Given the description of an element on the screen output the (x, y) to click on. 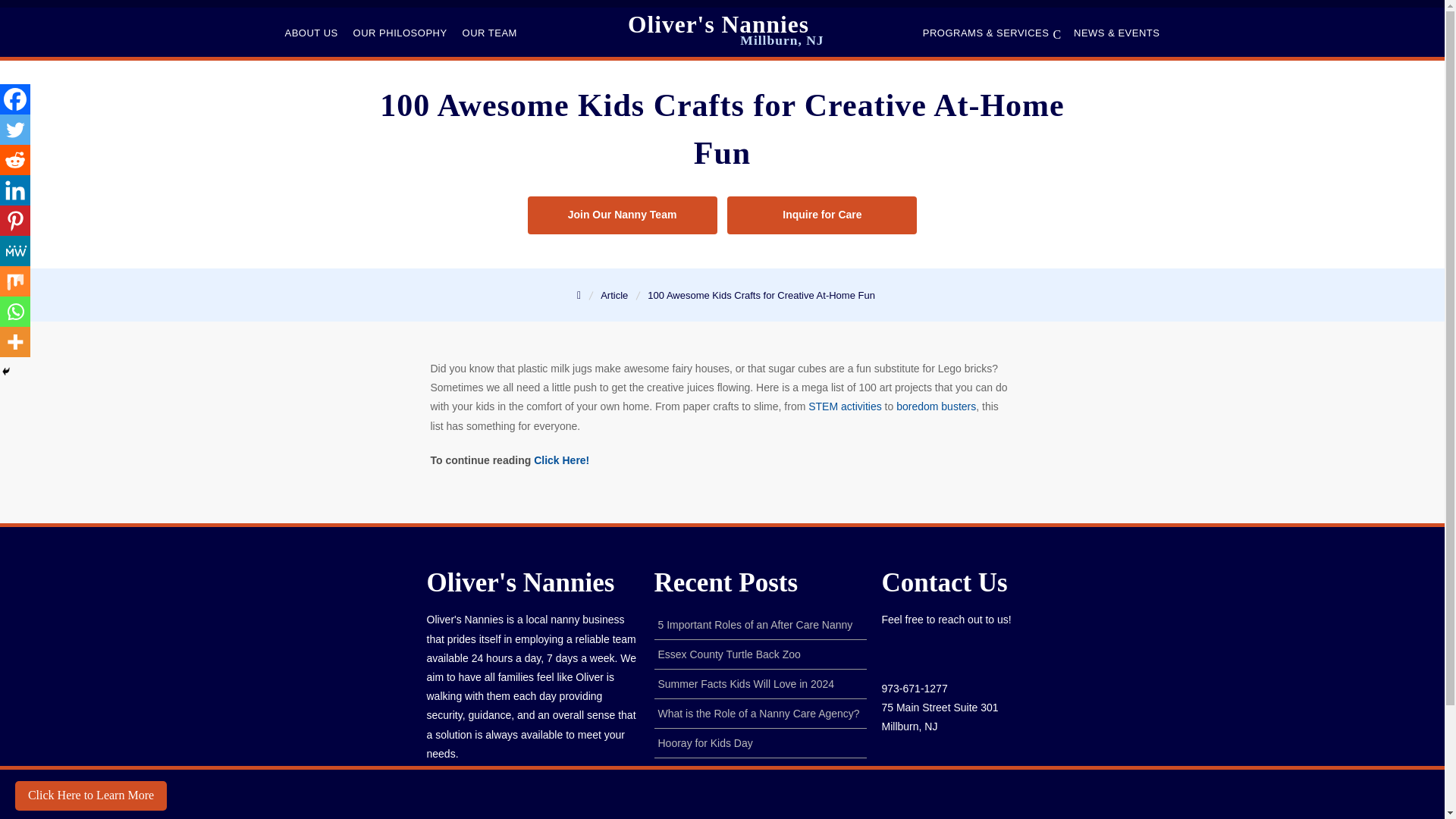
Click Here! (561, 460)
Linkedin (15, 190)
Facebook (15, 99)
Click Here to Learn More (90, 794)
ABOUT US (311, 32)
Hide (5, 371)
Summer Facts Kids Will Love in 2024 (746, 684)
OUR PHILOSOPHY (399, 32)
Whatsapp (15, 311)
Twitter (15, 129)
